Given the description of an element on the screen output the (x, y) to click on. 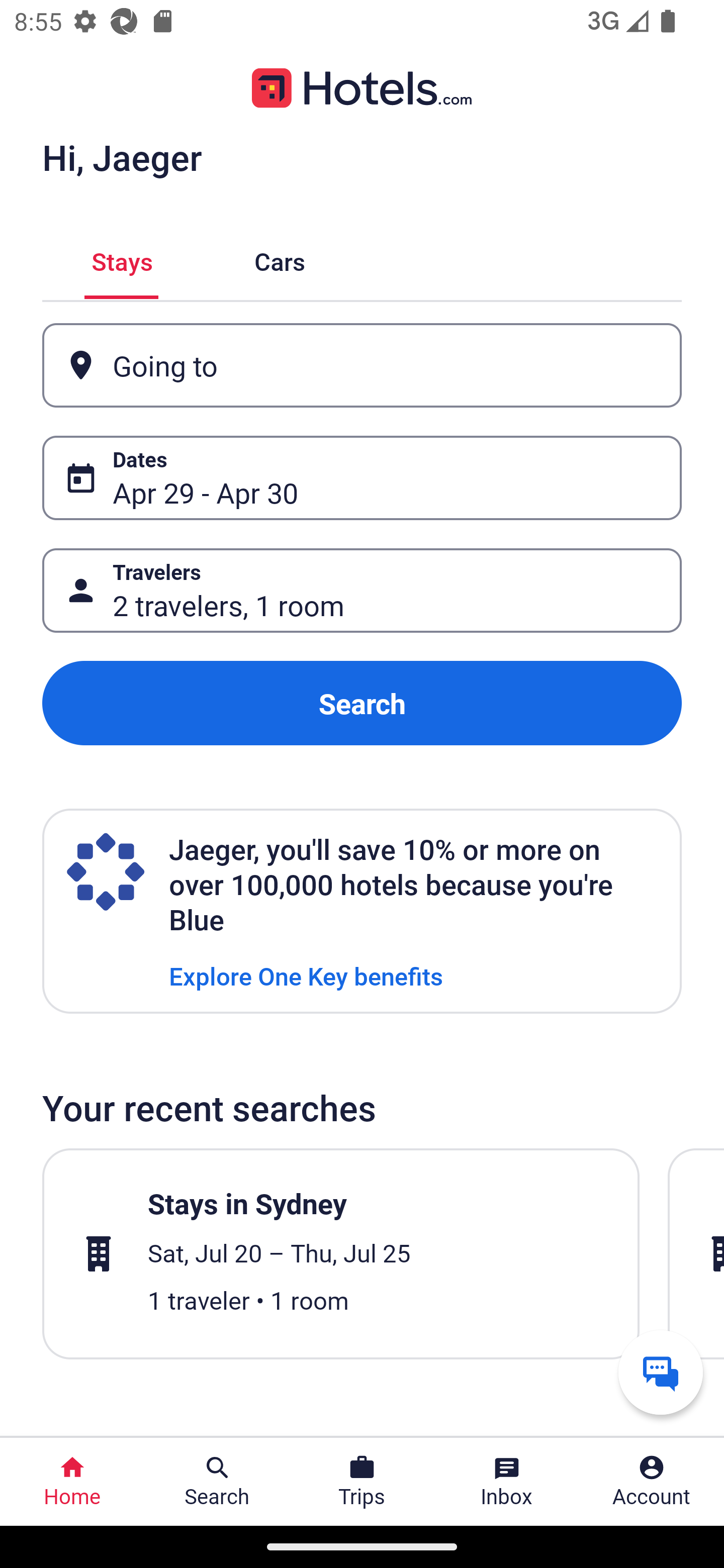
Hi, Jaeger (121, 156)
Cars (279, 259)
Going to Button (361, 365)
Dates Button Apr 29 - Apr 30 (361, 477)
Travelers Button 2 travelers, 1 room (361, 590)
Search (361, 702)
Get help from a virtual agent (660, 1371)
Search Search Button (216, 1481)
Trips Trips Button (361, 1481)
Inbox Inbox Button (506, 1481)
Account Profile. Button (651, 1481)
